Given the description of an element on the screen output the (x, y) to click on. 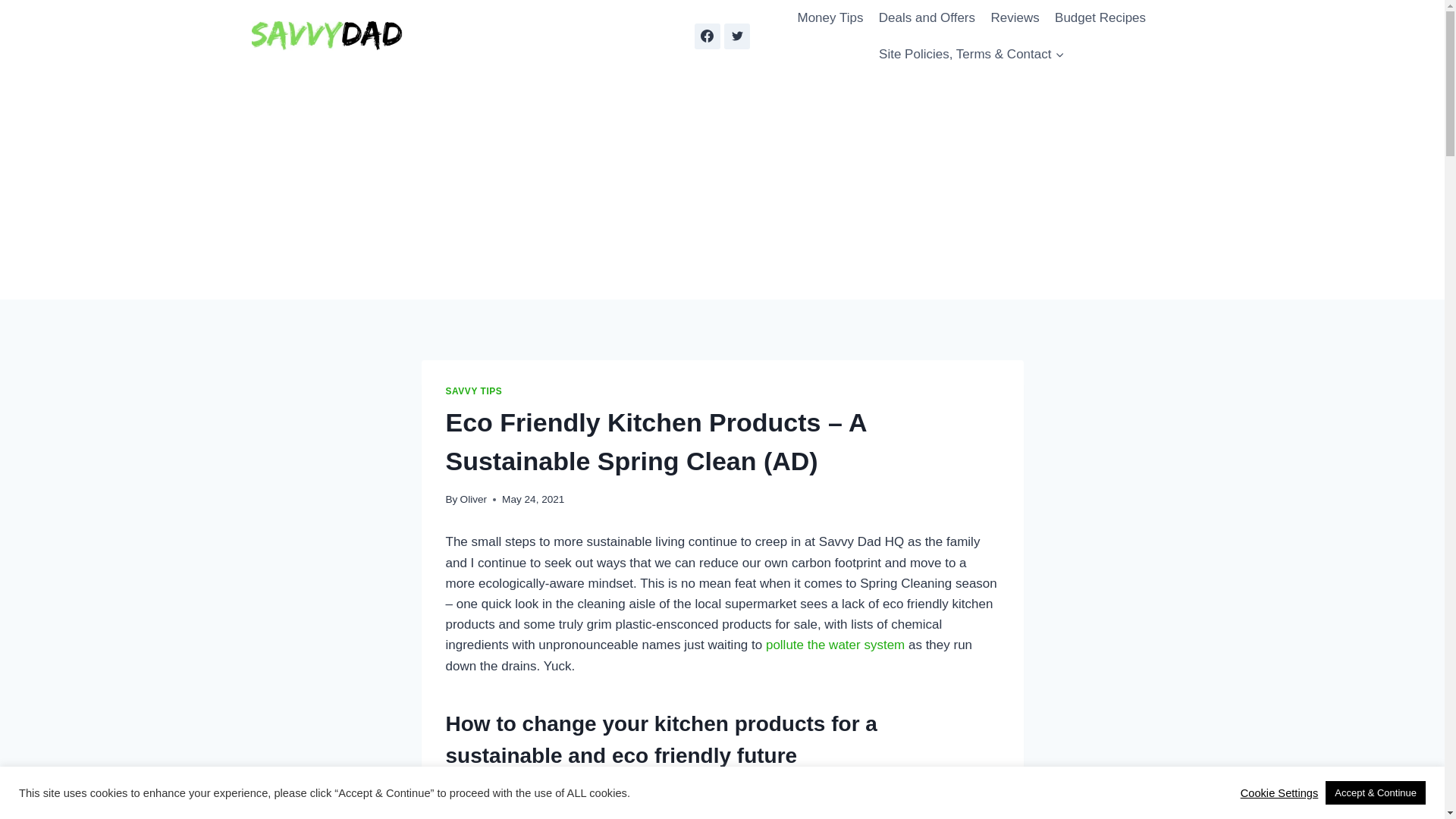
pollute the water system (834, 644)
Oliver (473, 499)
Money Tips (829, 18)
Reviews (1014, 18)
Budget Recipes (1099, 18)
SAVVY TIPS (473, 390)
Deals and Offers (927, 18)
Cookie Settings (1279, 792)
